Given the description of an element on the screen output the (x, y) to click on. 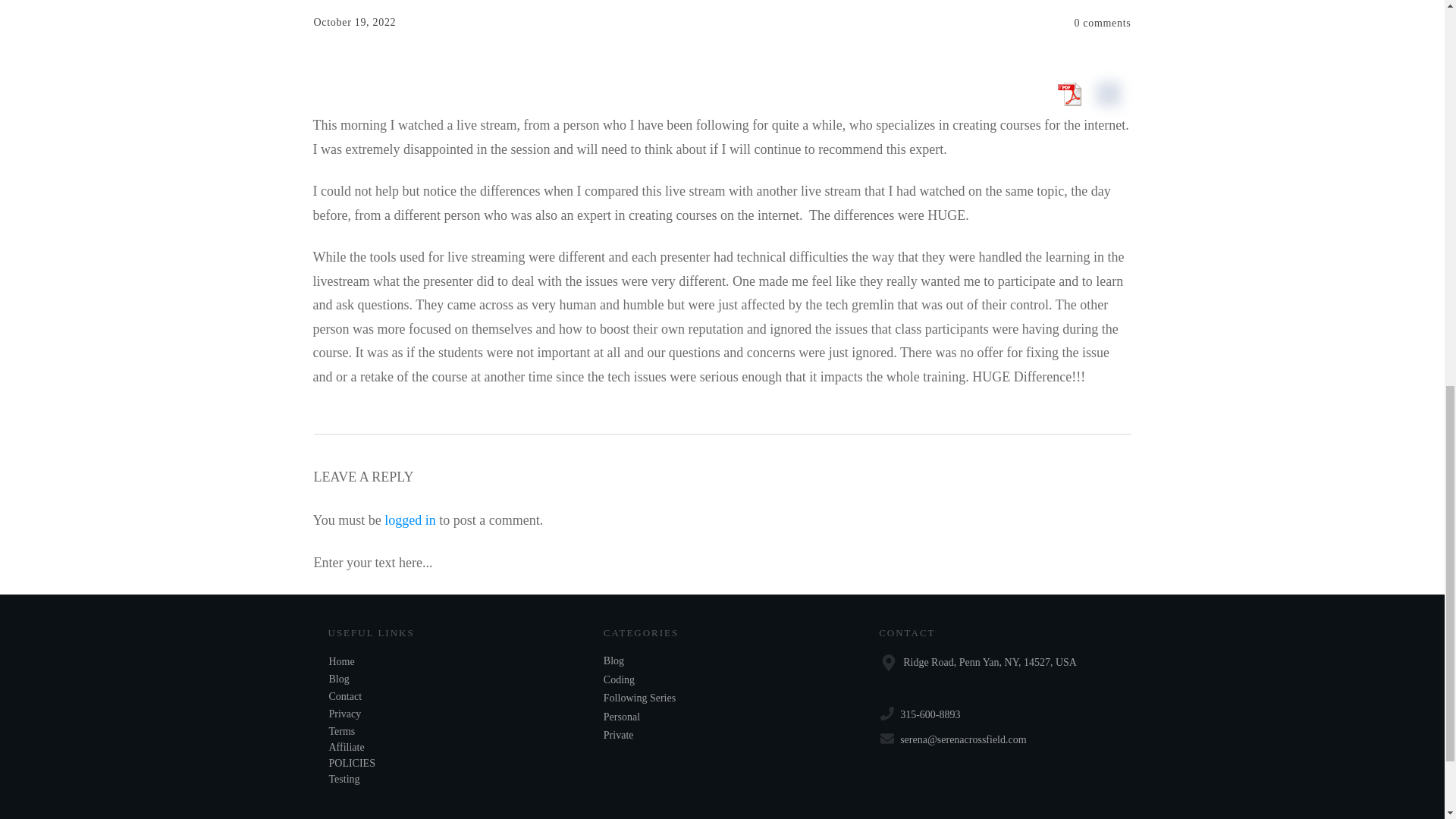
Privacy (345, 713)
Print Content (1108, 93)
Blog (339, 678)
Blog (614, 660)
View PDF (1068, 93)
logged in (409, 519)
Contact (345, 696)
Coding (619, 679)
Terms (342, 731)
Private (618, 735)
Home (342, 661)
Following Series (639, 698)
Personal (622, 717)
